Given the description of an element on the screen output the (x, y) to click on. 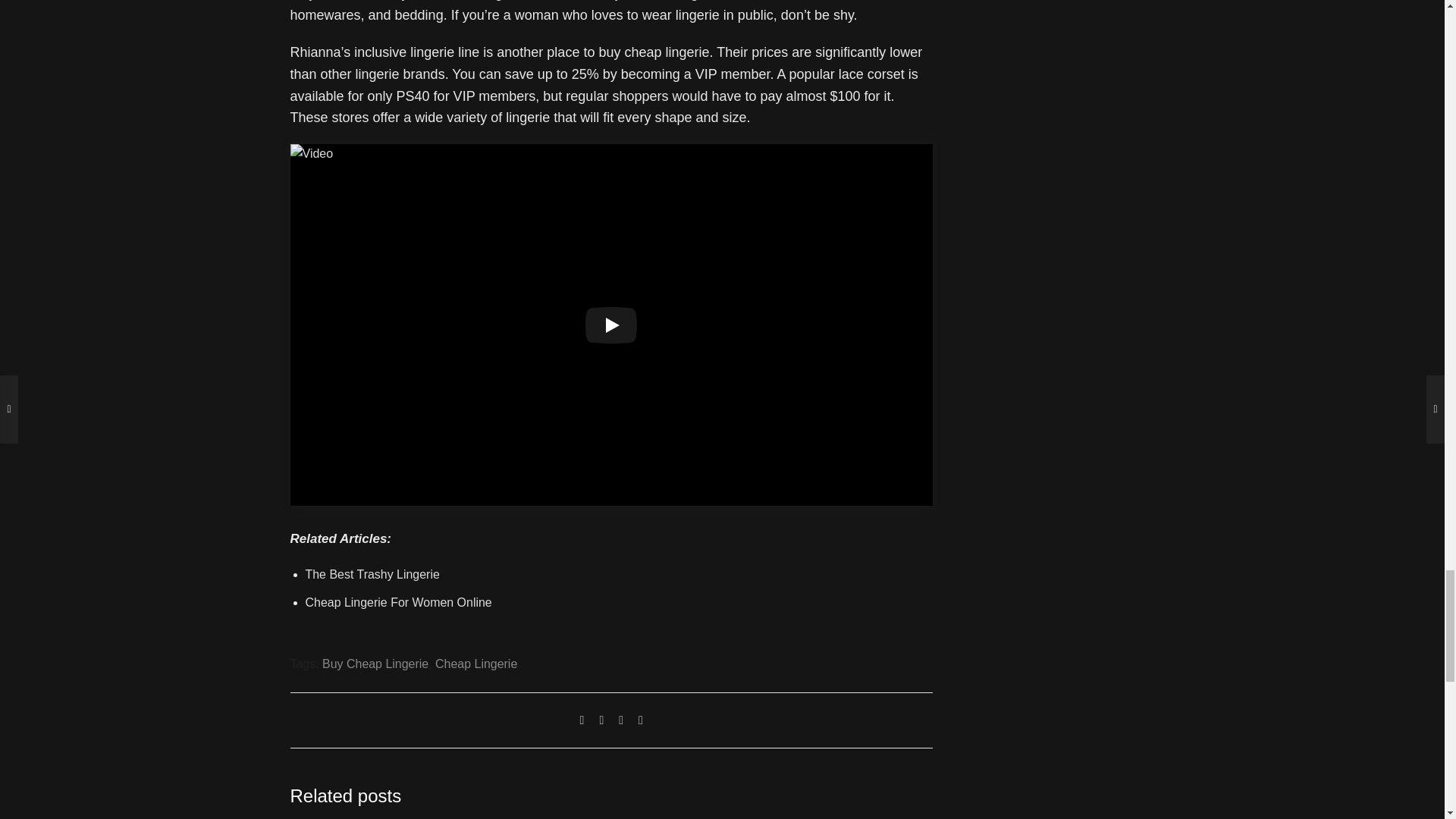
Facebook (601, 719)
VK (620, 719)
